Given the description of an element on the screen output the (x, y) to click on. 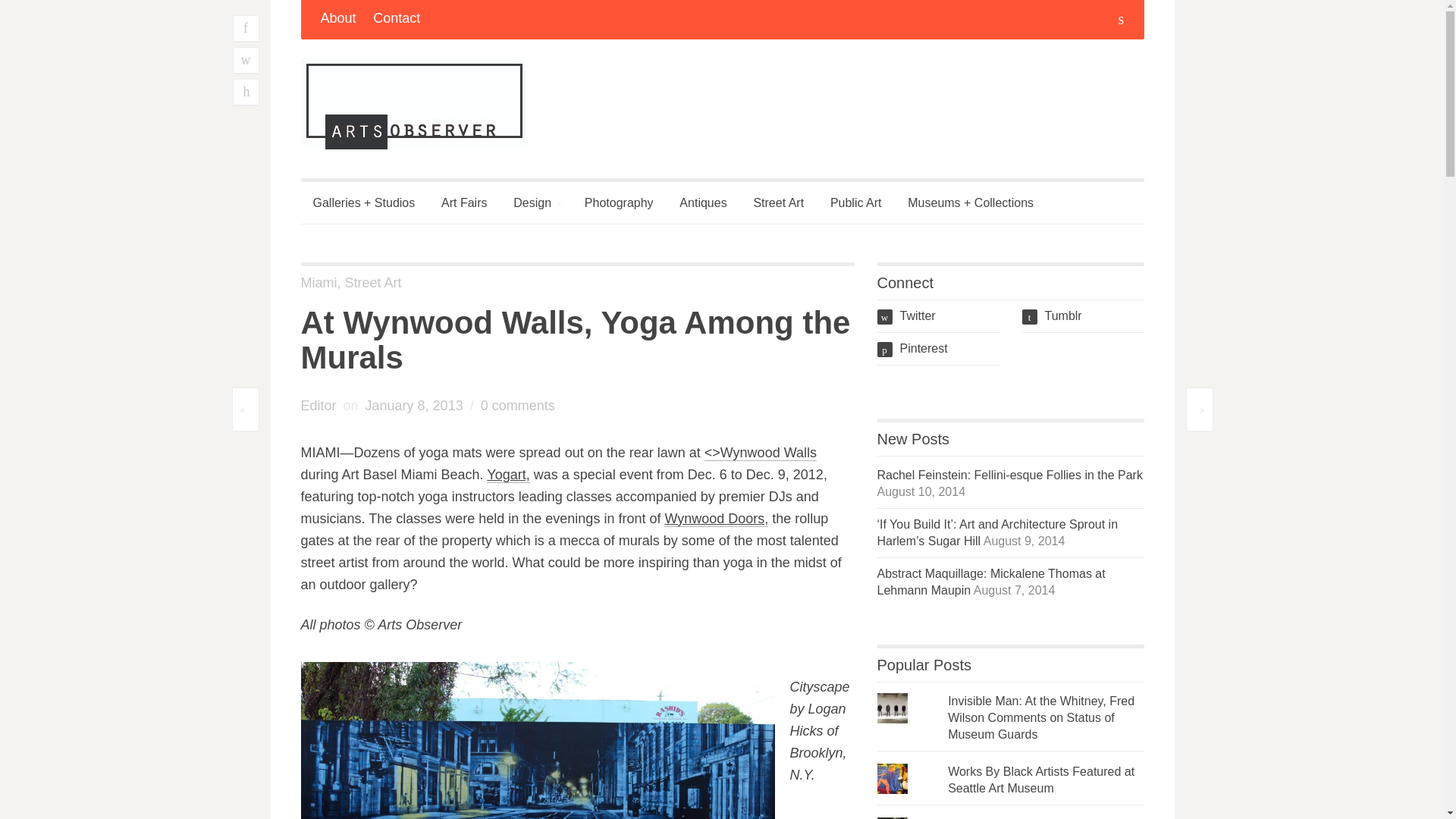
Arts Observer (413, 103)
w (245, 60)
Public Art (855, 202)
Wynwood Doors, (715, 519)
Photography (618, 202)
Permalink to At Wynwood Walls, Yoga Among the Murals (414, 405)
Editor (317, 405)
Miami (317, 282)
Street Art (373, 282)
View all posts by Editor (317, 405)
Art Fairs (464, 202)
Street Art (778, 202)
Design (535, 202)
About (337, 19)
